Given the description of an element on the screen output the (x, y) to click on. 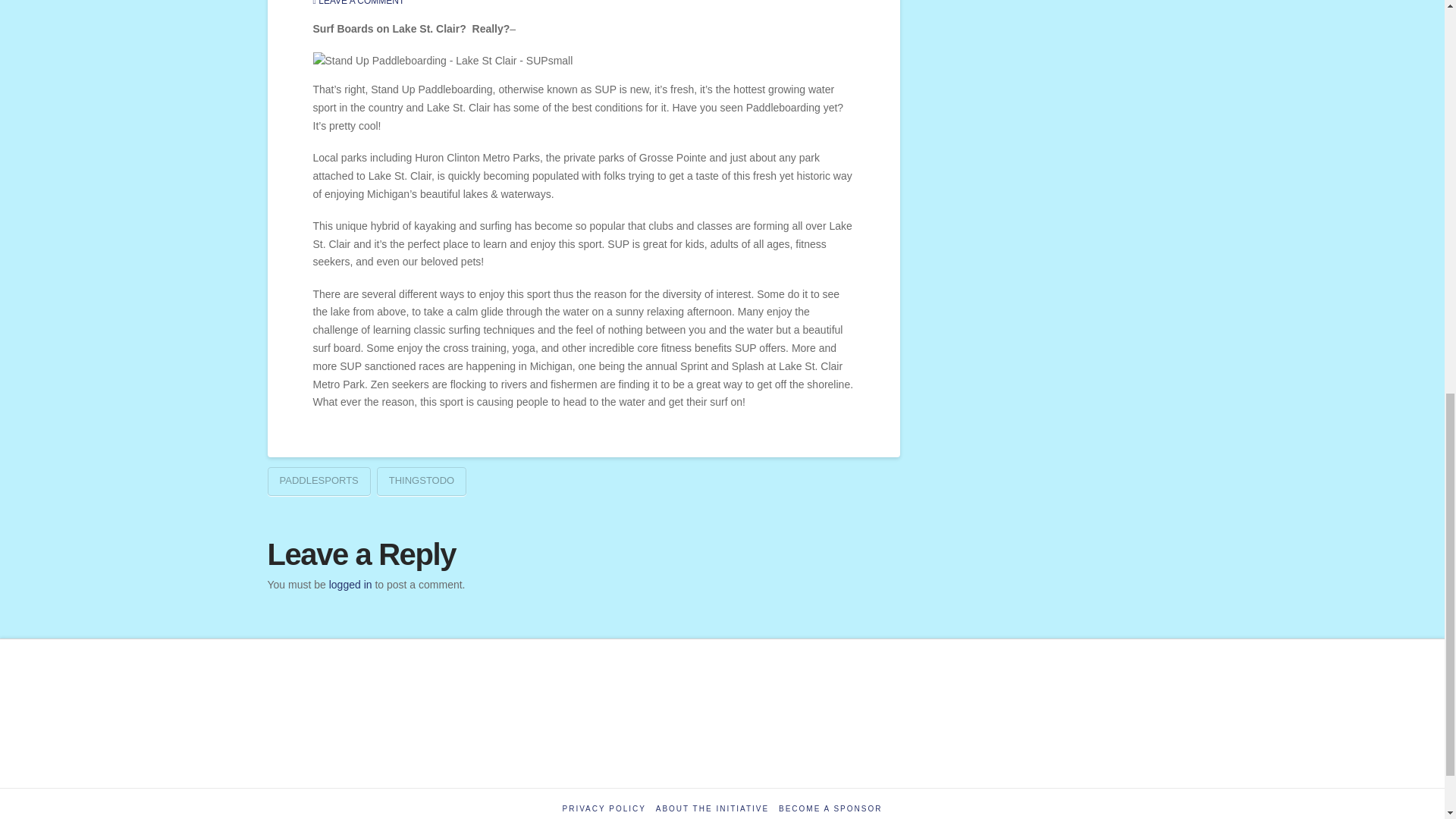
logged in (350, 584)
PADDLESPORTS (317, 481)
ABOUT THE INITIATIVE (712, 808)
LEAVE A COMMENT (358, 2)
PRIVACY POLICY (604, 808)
BECOME A SPONSOR (830, 808)
THINGSTODO (421, 481)
